Given the description of an element on the screen output the (x, y) to click on. 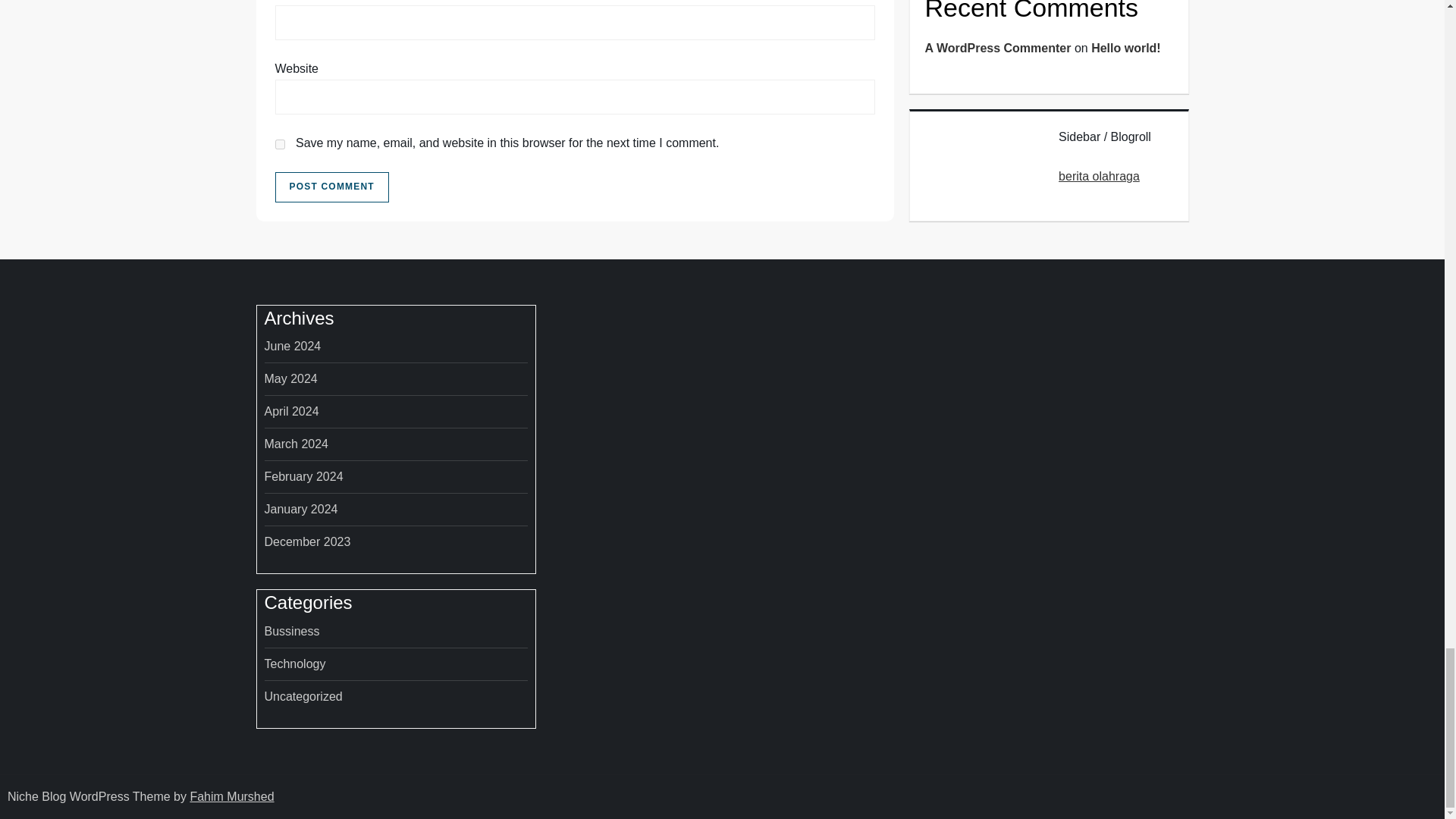
December 2023 (306, 541)
January 2024 (300, 509)
yes (279, 144)
Bussiness (290, 631)
Uncategorized (302, 696)
May 2024 (290, 378)
February 2024 (302, 476)
April 2024 (290, 411)
June 2024 (291, 346)
March 2024 (296, 444)
Technology (293, 663)
Fahim Murshed (231, 796)
Post Comment (331, 186)
Post Comment (331, 186)
